Given the description of an element on the screen output the (x, y) to click on. 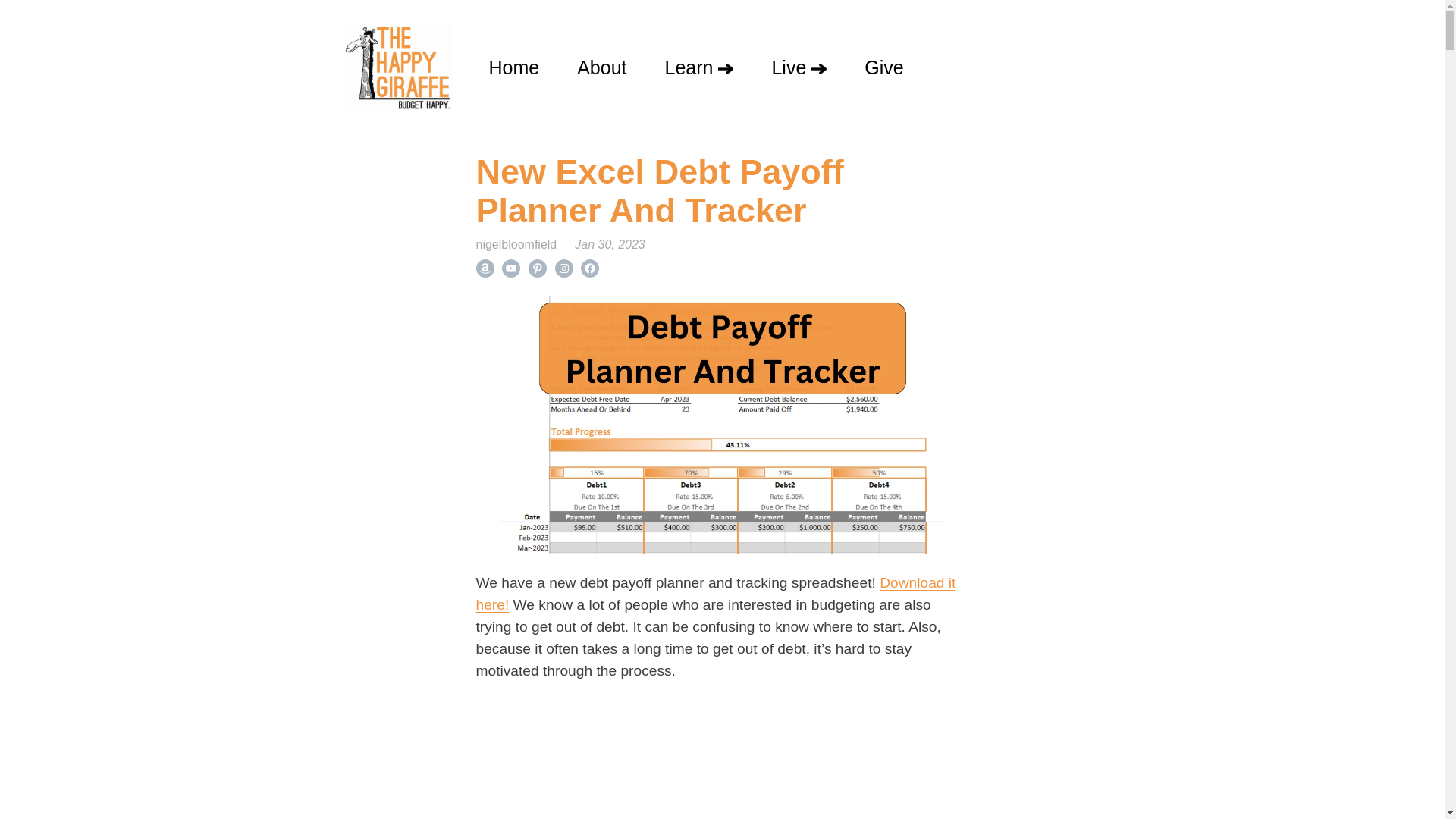
About (601, 67)
Instagram (563, 268)
Learn (699, 67)
YouTube (510, 268)
Facebook (589, 268)
Home (514, 67)
How To Use Our Debt Payoff Spreadsheet (722, 759)
Live (798, 67)
Give (883, 67)
Pinterest (537, 268)
Amazon (485, 268)
Download it here! (716, 593)
